Given the description of an element on the screen output the (x, y) to click on. 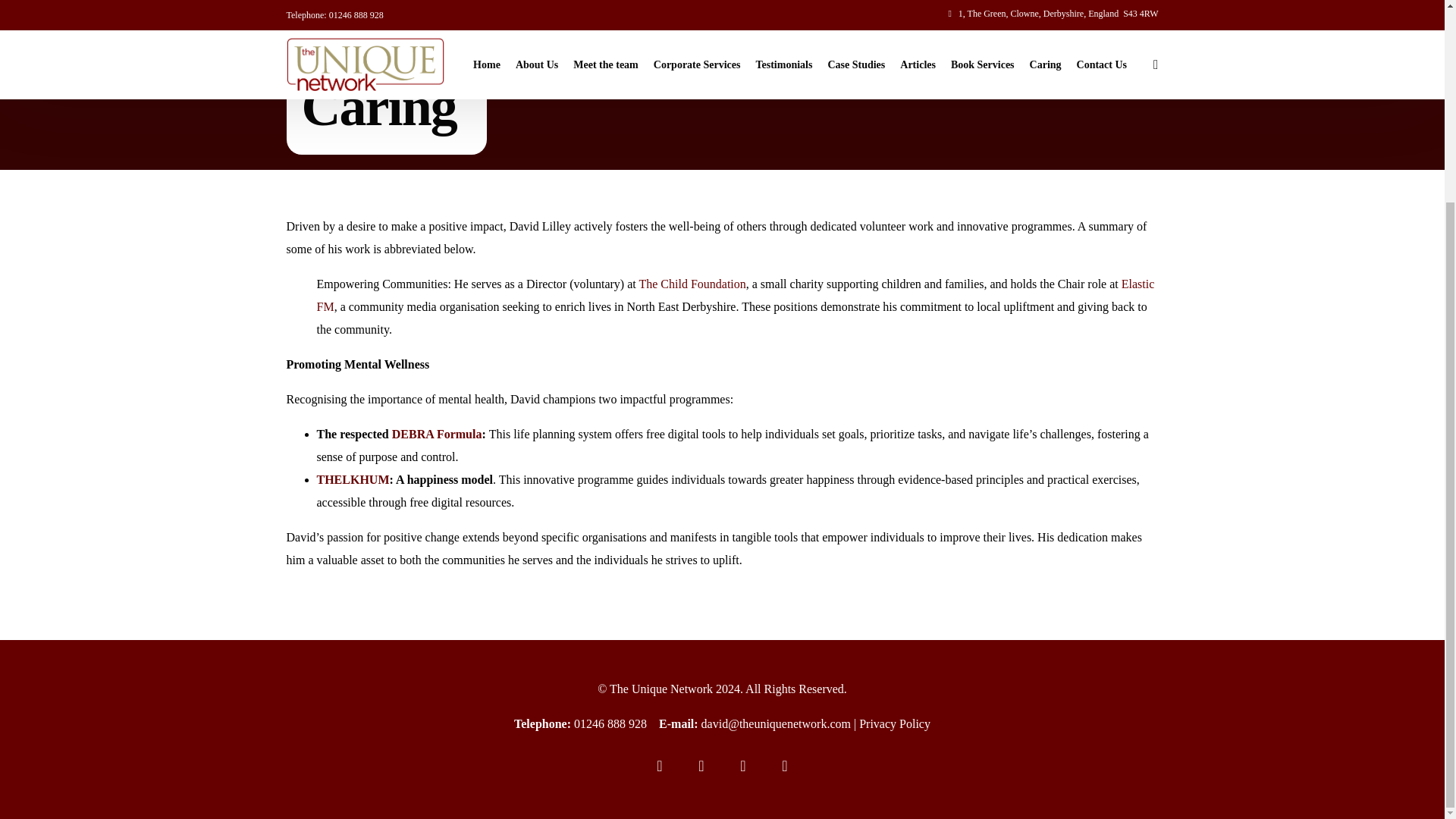
THELKHUM (353, 479)
The Child Foundation (692, 283)
Privacy Policy (894, 723)
Elastic FM (735, 294)
DEBRA Formula (436, 433)
